Given the description of an element on the screen output the (x, y) to click on. 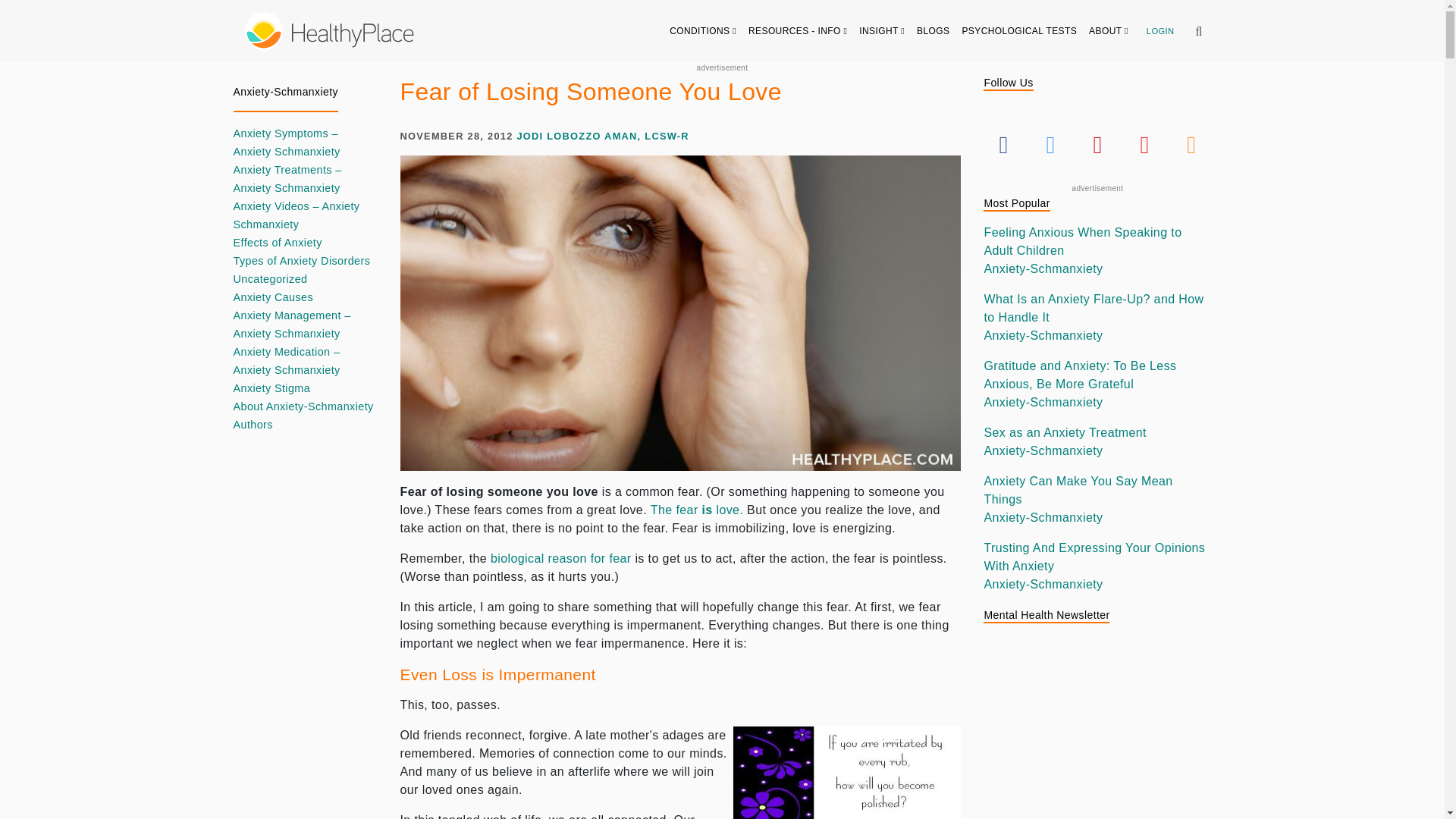
RESOURCES - INFO (797, 31)
INSIGHT (882, 31)
How to Love Instead of Worry Video (696, 509)
The Biology of Fear (560, 558)
CONDITIONS (702, 31)
